Given the description of an element on the screen output the (x, y) to click on. 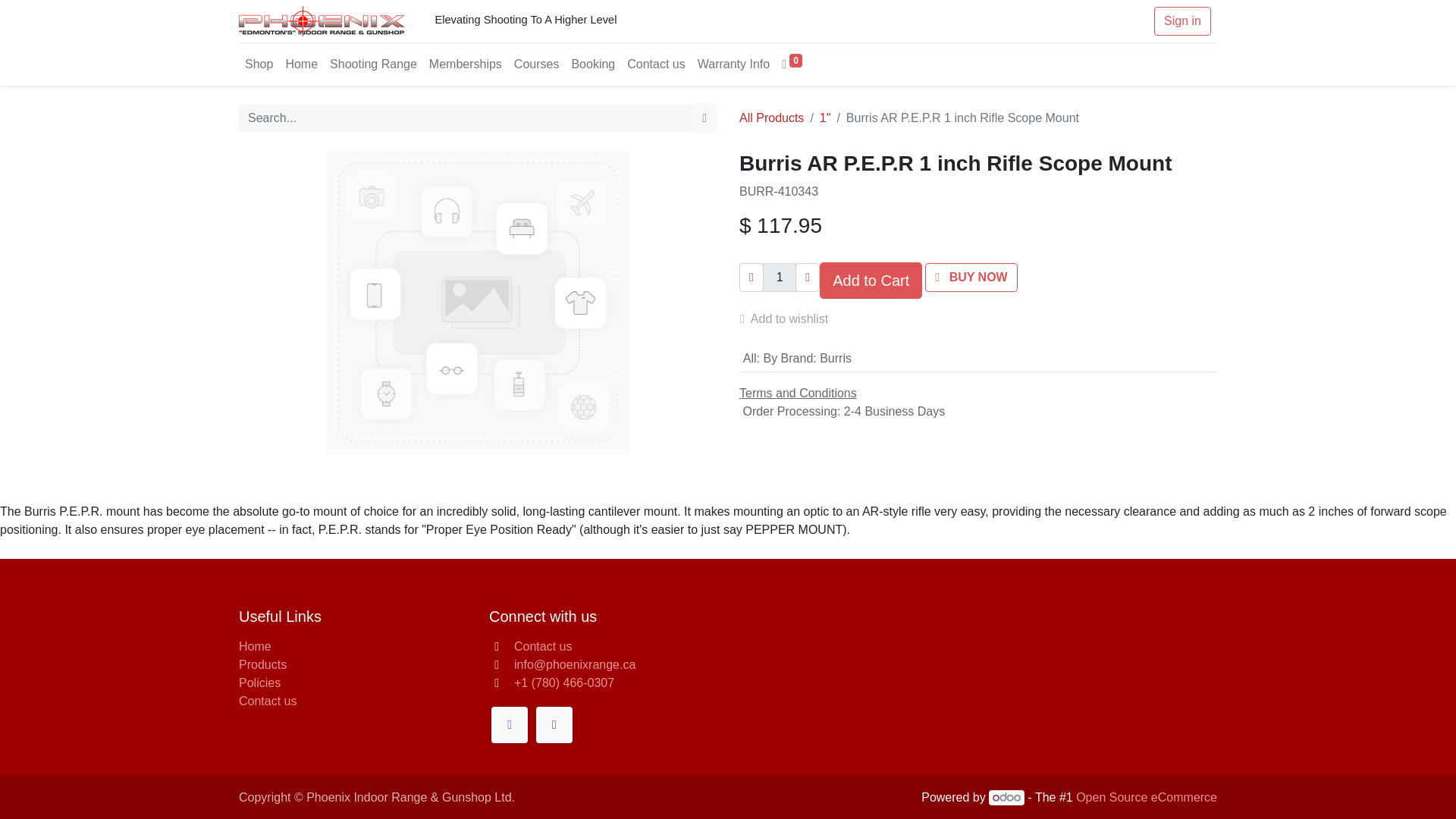
Warranty Info (733, 64)
Shooting Range (373, 64)
Add to wishlist (790, 318)
Terms and Conditions (798, 392)
Contact us (542, 645)
Contact us (655, 64)
1 (779, 276)
Booking (592, 64)
Home (254, 645)
All Products (771, 117)
